Given the description of an element on the screen output the (x, y) to click on. 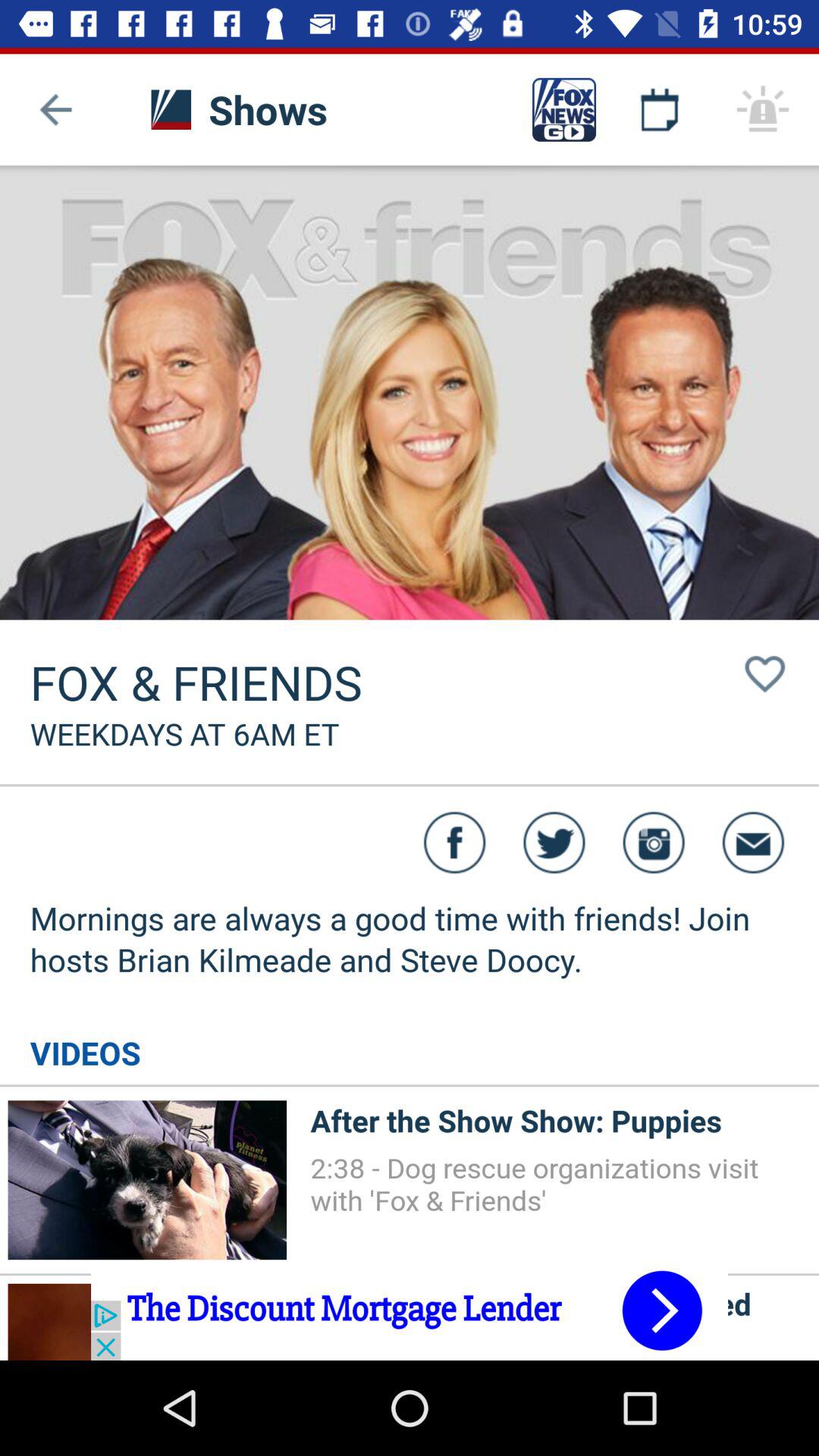
select the button right to the fox  friends (765, 674)
click on the icon which is beside the fox news go icon (659, 109)
select the twitter icon on the page (554, 842)
click on the instagram app image icon (653, 842)
